Given the description of an element on the screen output the (x, y) to click on. 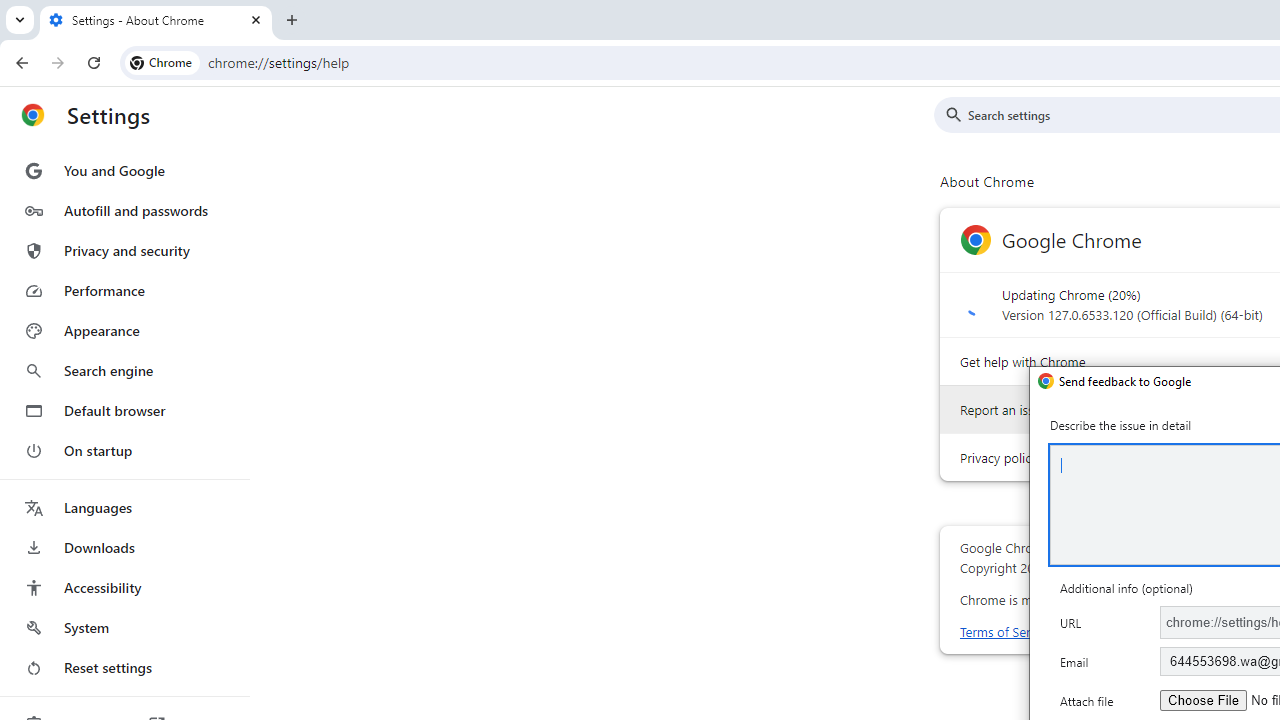
You and Google (124, 170)
Downloads (124, 547)
Settings - About Chrome (156, 20)
Privacy and security (124, 250)
Search engine (124, 370)
On startup (124, 450)
